Given the description of an element on the screen output the (x, y) to click on. 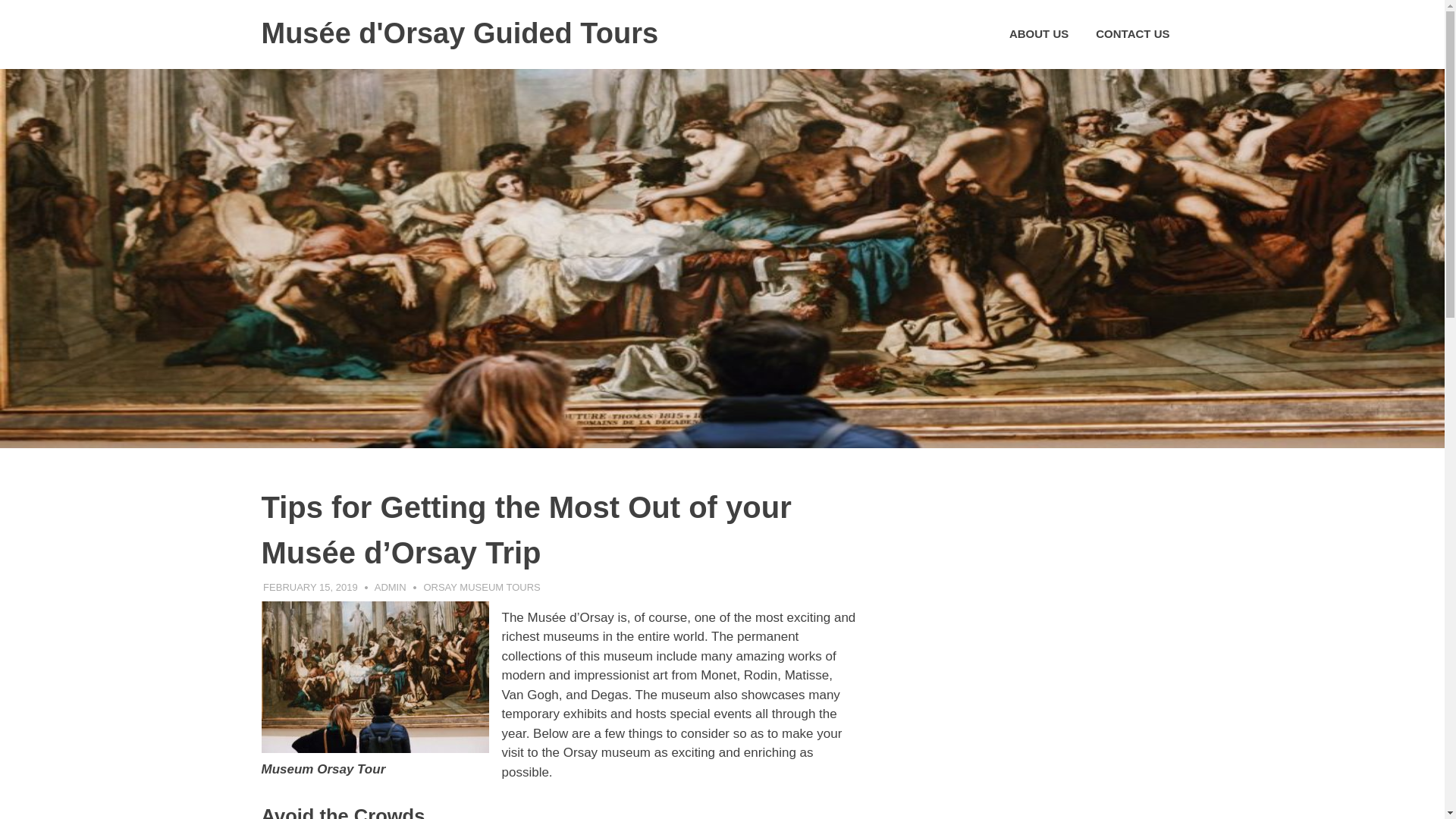
ADMIN (390, 586)
ABOUT US (1038, 34)
CONTACT US (1131, 34)
ORSAY MUSEUM TOURS (481, 586)
11:47 am (310, 586)
FEBRUARY 15, 2019 (310, 586)
View all posts by admin (390, 586)
